Given the description of an element on the screen output the (x, y) to click on. 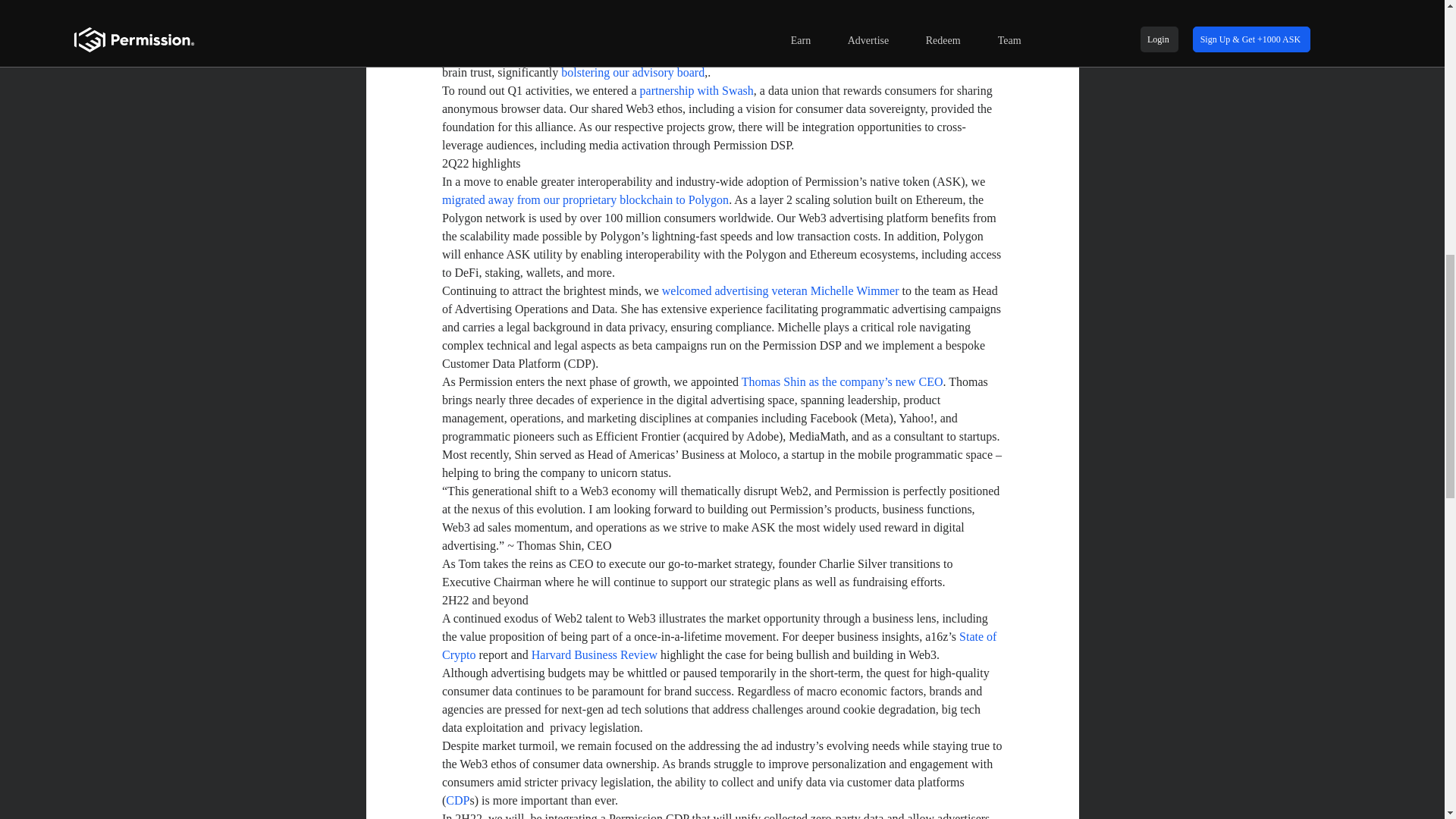
migrated away from our proprietary blockchain to Polygon (584, 199)
welcomed advertising veteran Michelle Wimmer (779, 290)
Harvard Business Review (593, 654)
partnership with Swash (695, 90)
State of Crypto (719, 644)
CDP (456, 799)
bolstering our advisory board (632, 72)
